Given the description of an element on the screen output the (x, y) to click on. 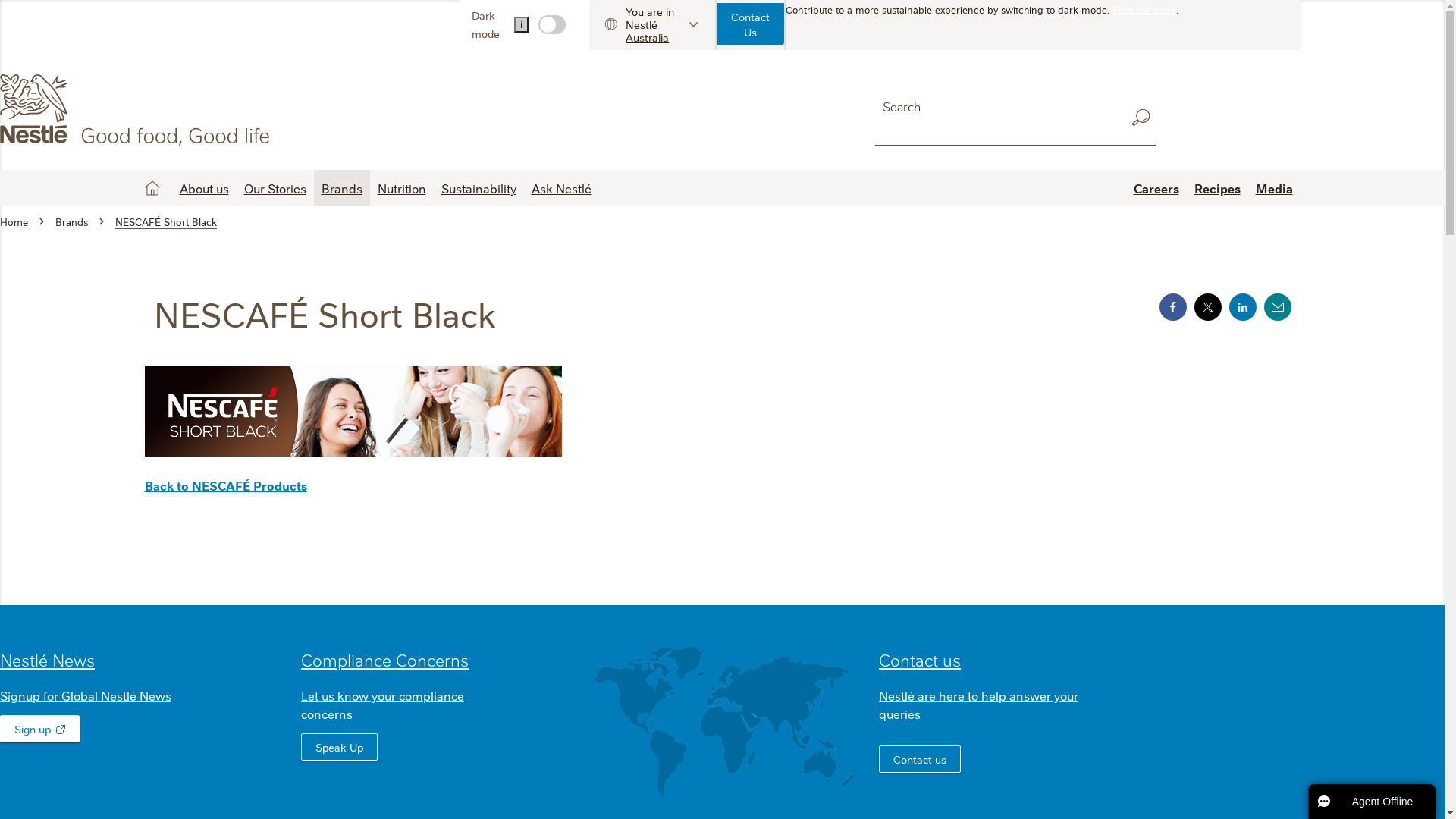
Contact us Element type: text (919, 758)
Compliance Concerns Element type: text (384, 659)
Woeldmap Element type: hover (721, 721)
i Element type: text (521, 24)
Sign up Element type: text (39, 728)
Our Stories Element type: text (274, 187)
Contact us Element type: text (919, 659)
Careers Element type: text (1155, 187)
Home Element type: text (151, 187)
Skip to main content Element type: text (0, 0)
Media Element type: text (1274, 187)
Nutrition Element type: text (401, 187)
Speak Up Element type: text (339, 746)
About us Element type: text (203, 187)
Brands Element type: text (341, 187)
Home Element type: text (14, 221)
Let us know your compliance concerns Element type: text (382, 704)
Find out more Element type: text (1144, 8)
Search Element type: text (1140, 117)
Recipes Element type: text (1216, 187)
Sustainability Element type: text (478, 187)
Brands Element type: text (71, 221)
Contact Us Element type: text (750, 24)
Home Element type: hover (137, 109)
